Given the description of an element on the screen output the (x, y) to click on. 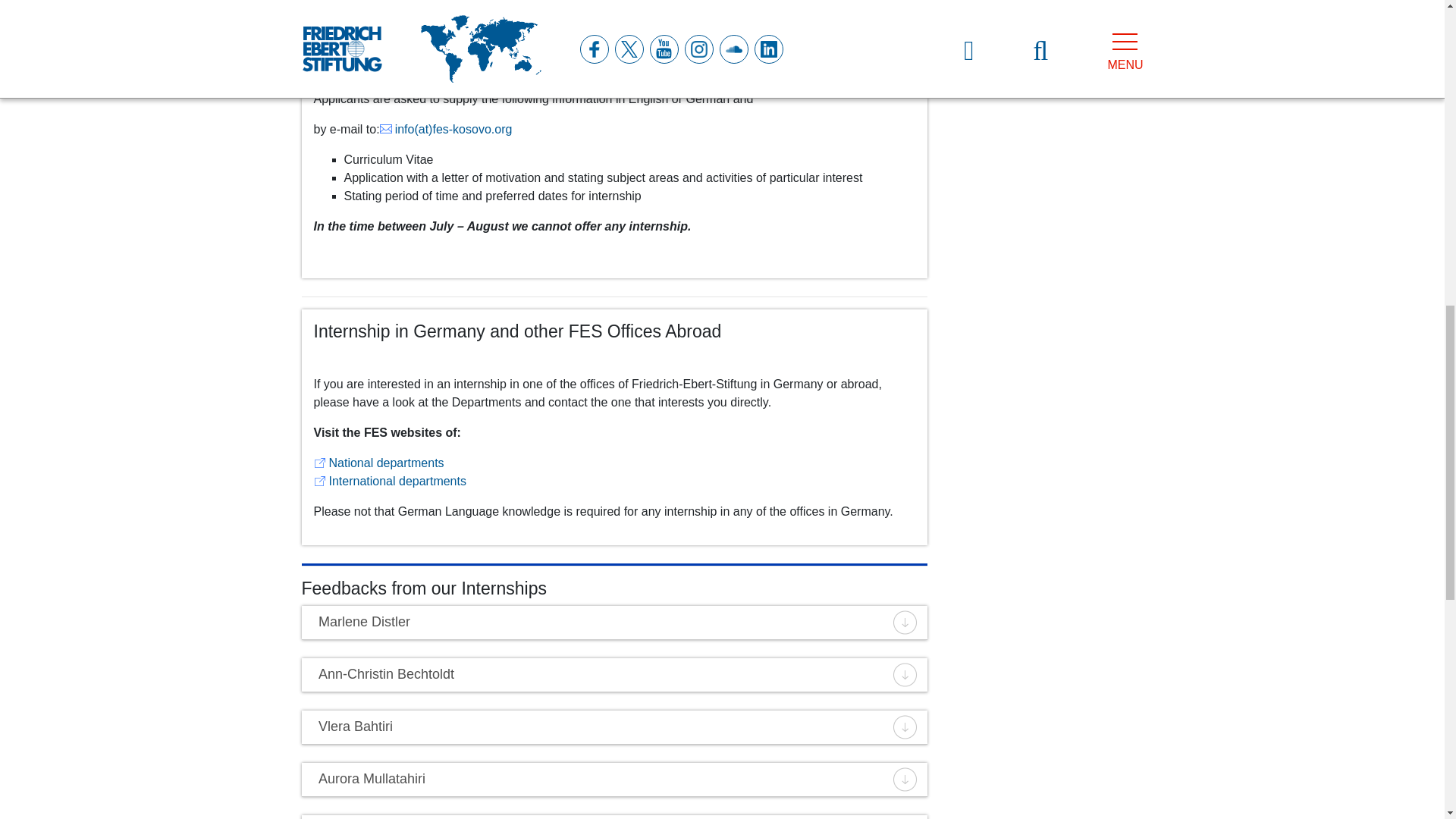
Internal Link (446, 128)
External link (379, 462)
External link (389, 481)
